Given the description of an element on the screen output the (x, y) to click on. 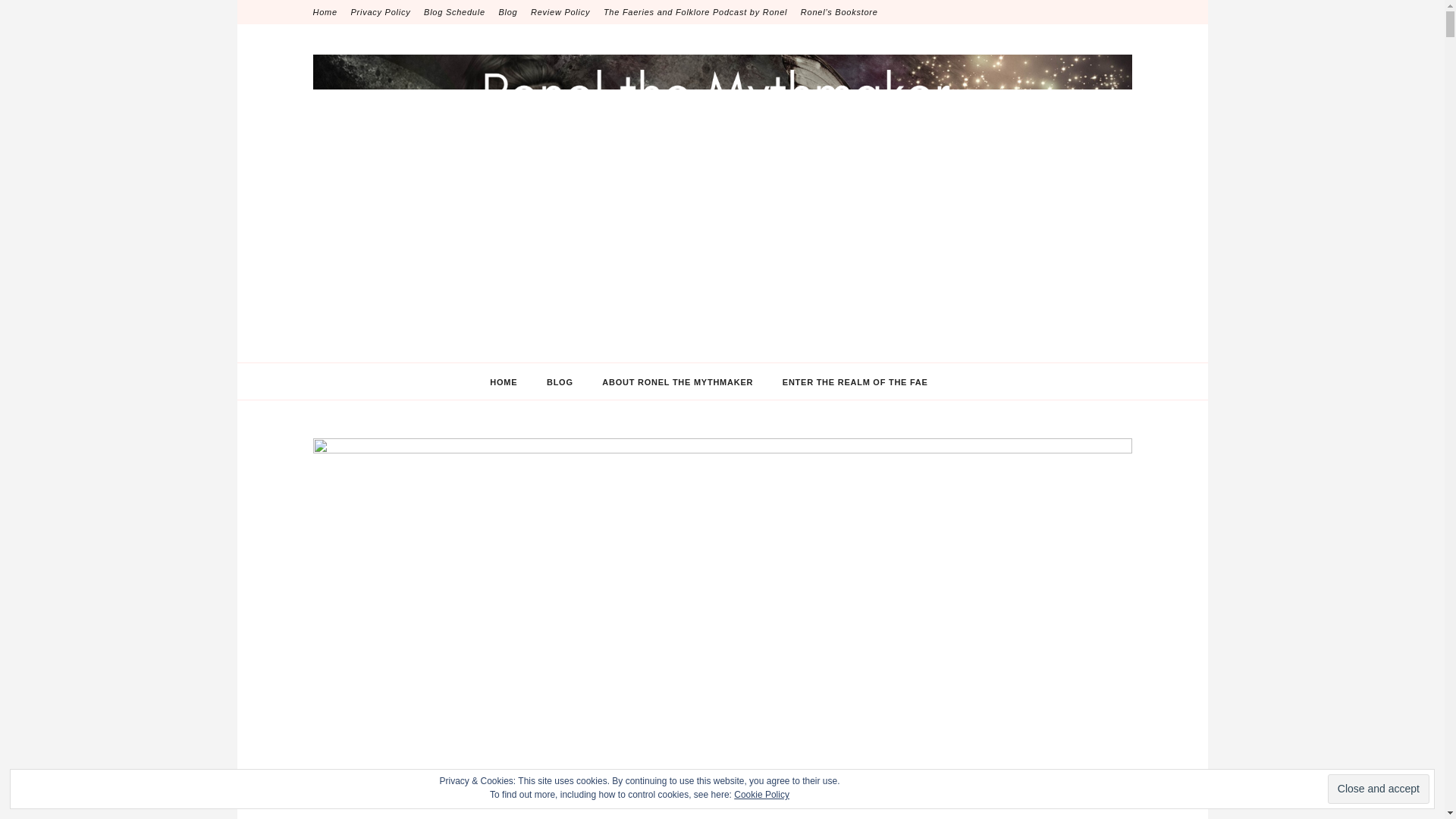
The Faeries and Folklore Podcast by Ronel (695, 12)
Privacy Policy (380, 12)
ABOUT RONEL THE MYTHMAKER (677, 382)
Blog Schedule (453, 12)
Close and accept (1378, 788)
ENTER THE REALM OF THE FAE (855, 382)
Review Policy (560, 12)
Home (324, 12)
